Given the description of an element on the screen output the (x, y) to click on. 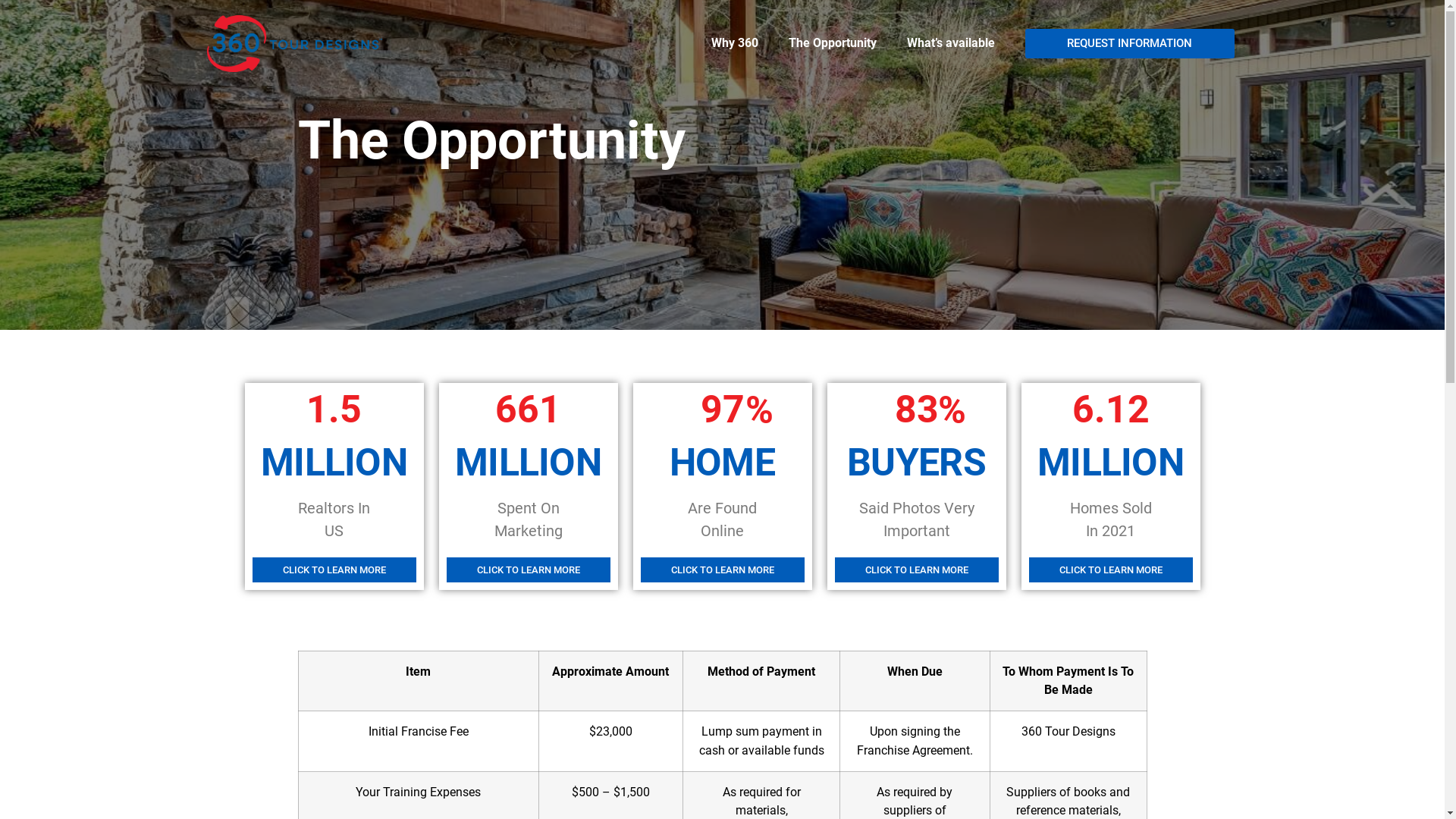
CLICK TO LEARN MORE Element type: text (721, 569)
CLICK TO LEARN MORE Element type: text (1110, 569)
CLICK TO LEARN MORE Element type: text (333, 569)
Why 360 Element type: text (734, 42)
REQUEST INFORMATION Element type: text (1129, 43)
CLICK TO LEARN MORE Element type: text (527, 569)
CLICK TO LEARN MORE Element type: text (915, 569)
The Opportunity Element type: text (832, 42)
